Given the description of an element on the screen output the (x, y) to click on. 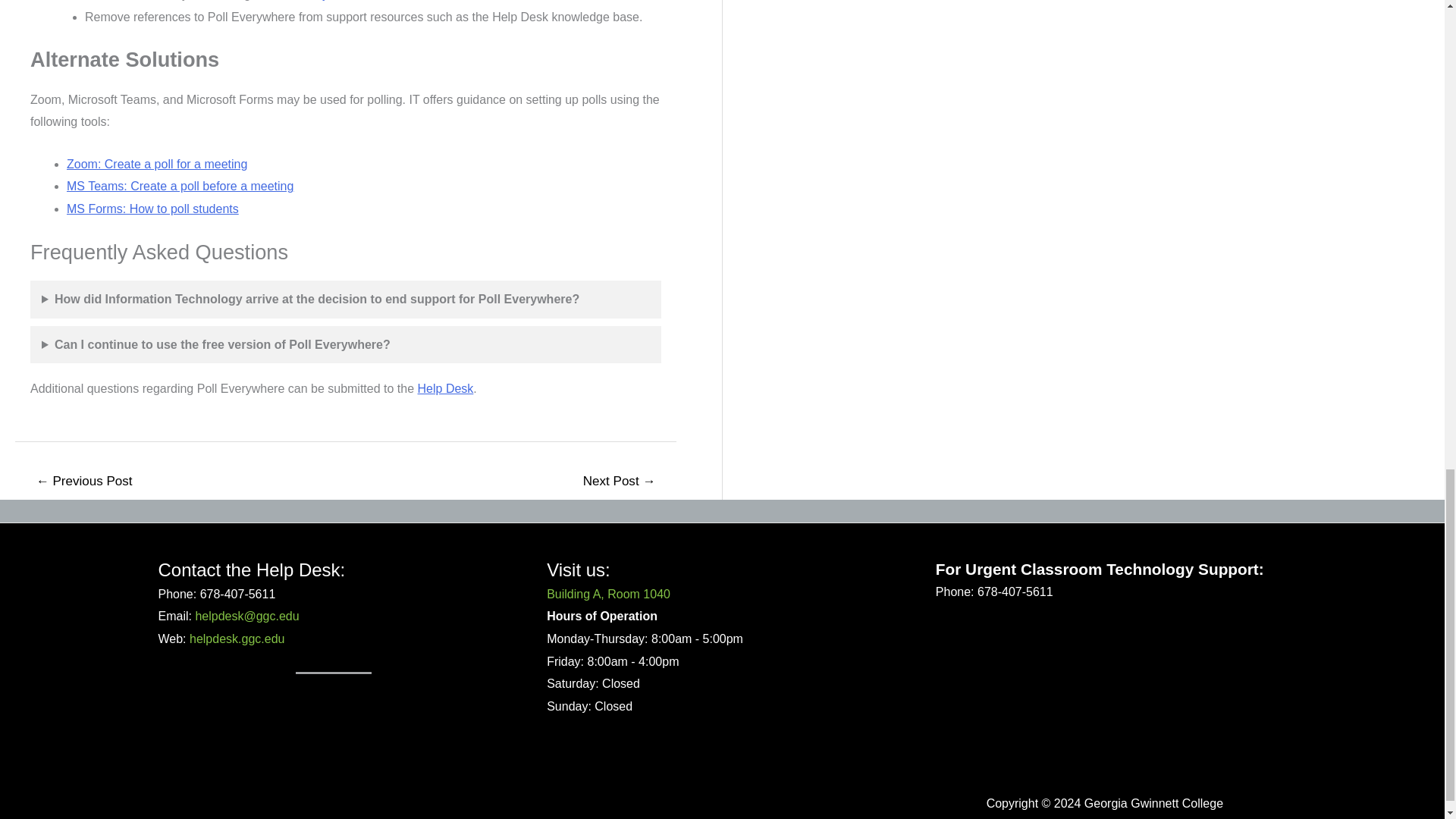
MS Forms: How to poll students (152, 208)
Help Desk (445, 388)
MyCourses (343, 0)
MS Teams: Create a poll before a meeting (180, 185)
Zoom: Create a poll for a meeting (156, 164)
